Given the description of an element on the screen output the (x, y) to click on. 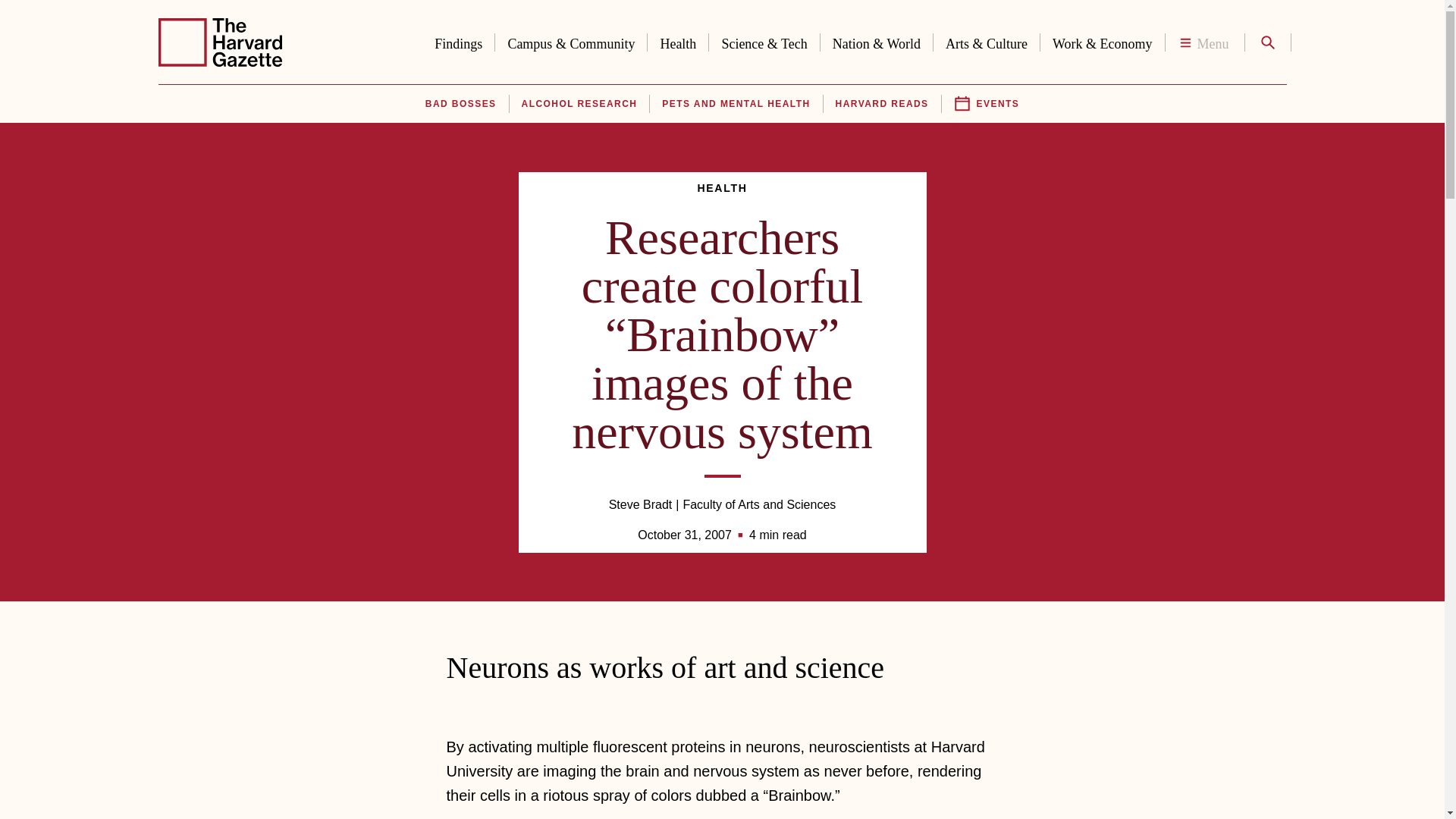
Findings (457, 41)
Health (677, 41)
BAD BOSSES (460, 103)
Menu (1204, 42)
ALCOHOL RESEARCH (579, 103)
